Given the description of an element on the screen output the (x, y) to click on. 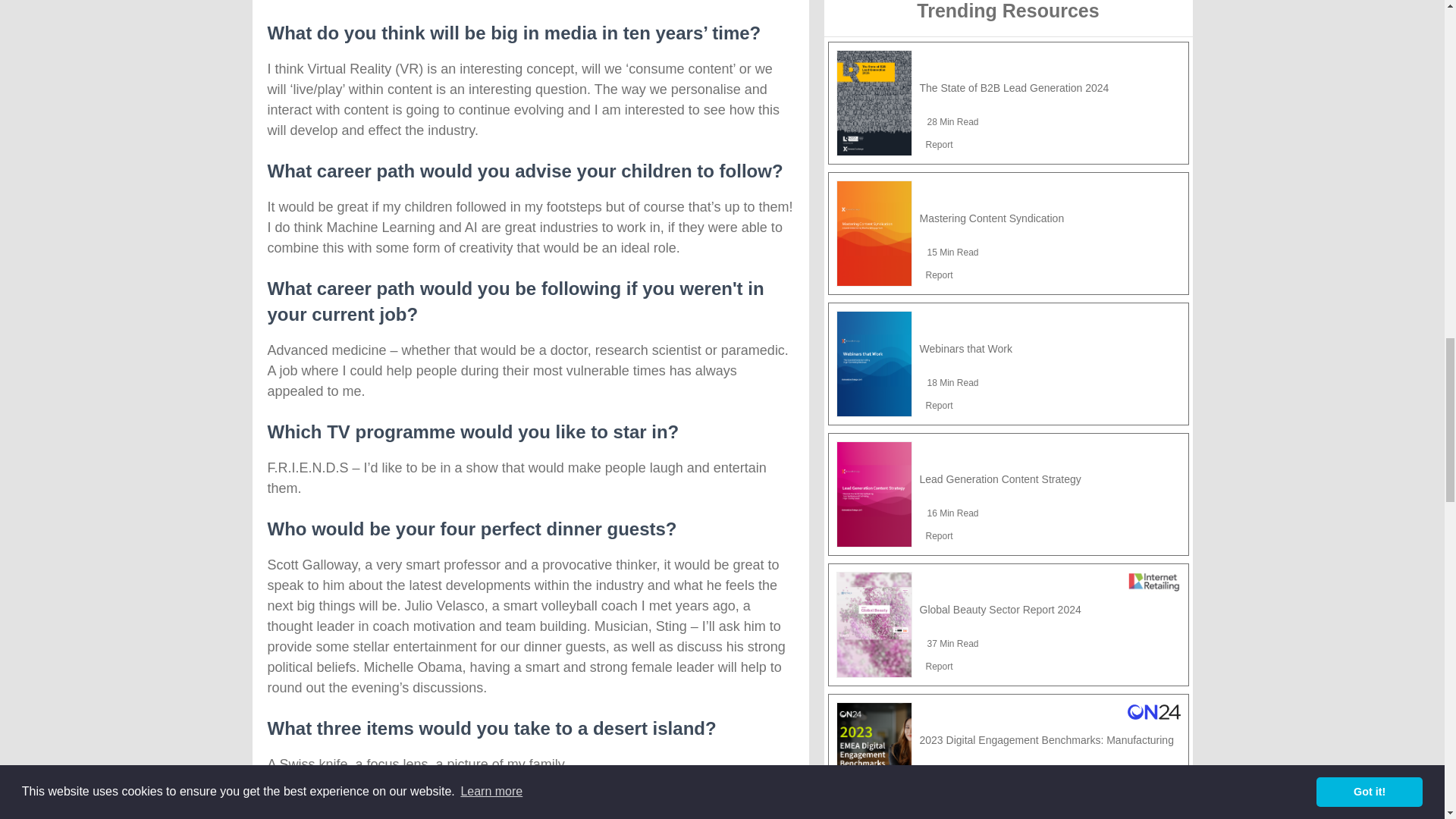
View Global Beauty Sector Report 2024 (999, 609)
View 2023 Digital Engagement Benchmarks: Manufacturing (1045, 739)
Link to Webinars that Work (873, 363)
View Mastering Content Syndication (991, 218)
Link to Mastering Content Syndication (873, 233)
View The State of B2B Lead Generation 2024 (1013, 87)
Link to Lead Generation Content Strategy (873, 494)
Link to 2023 Digital Engagement Benchmarks: Manufacturing (873, 754)
View Lead Generation Content Strategy (999, 479)
Link to Global Beauty Sector Report 2024 (873, 624)
View Webinars that Work (964, 348)
Link to The State of B2B Lead Generation 2024 (873, 102)
